Given the description of an element on the screen output the (x, y) to click on. 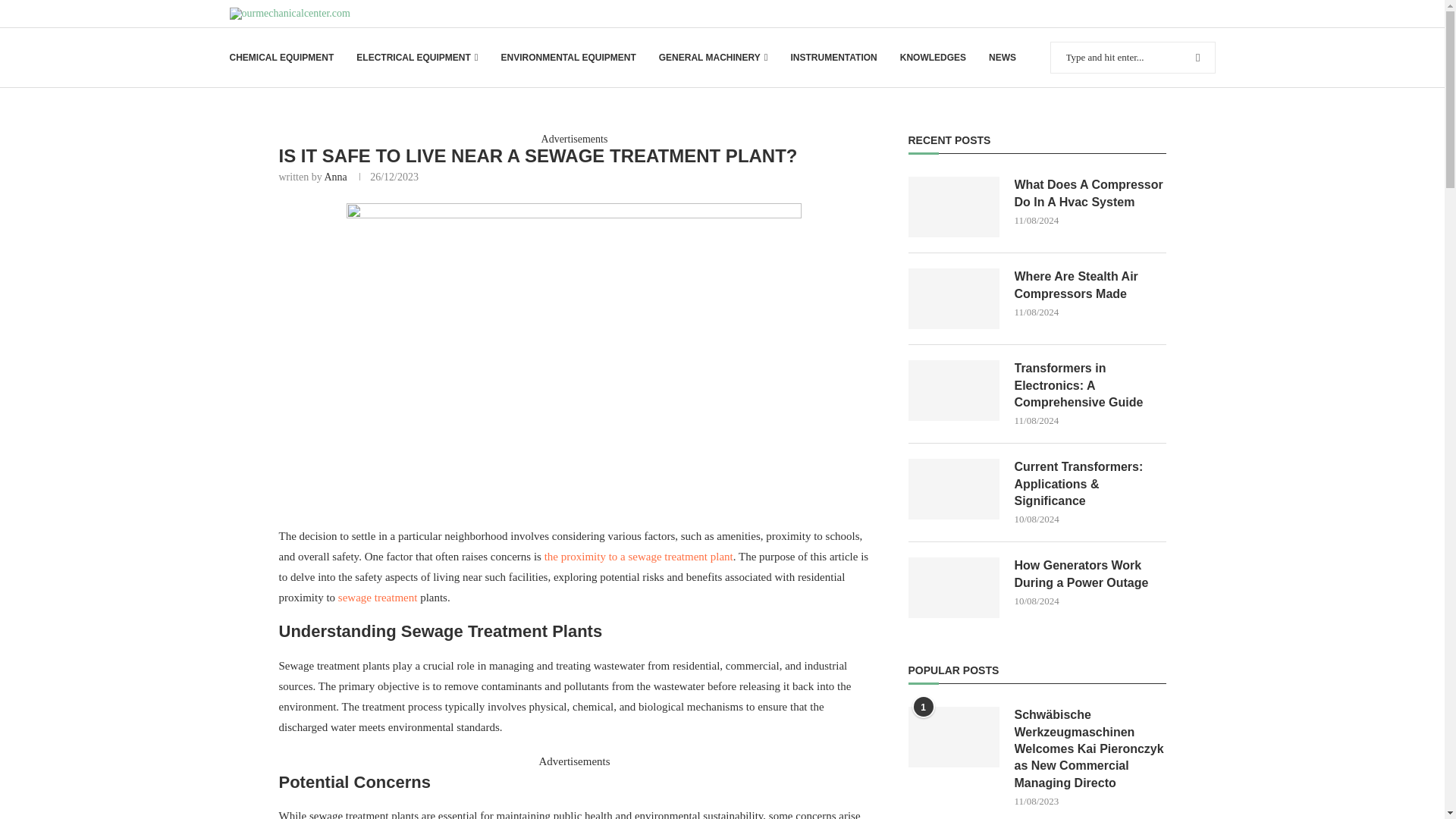
INSTRUMENTATION (833, 57)
CHEMICAL EQUIPMENT (280, 57)
Where Are Stealth Air Compressors Made (1090, 285)
What Does A Compressor Do In A Hvac System (1090, 193)
What Does A Compressor Do In A Hvac System (953, 206)
Where Are Stealth Air Compressors Made (953, 298)
KNOWLEDGES (932, 57)
GENERAL MACHINERY (713, 57)
Transformers in Electronics: A Comprehensive Guide (1090, 385)
